Given the description of an element on the screen output the (x, y) to click on. 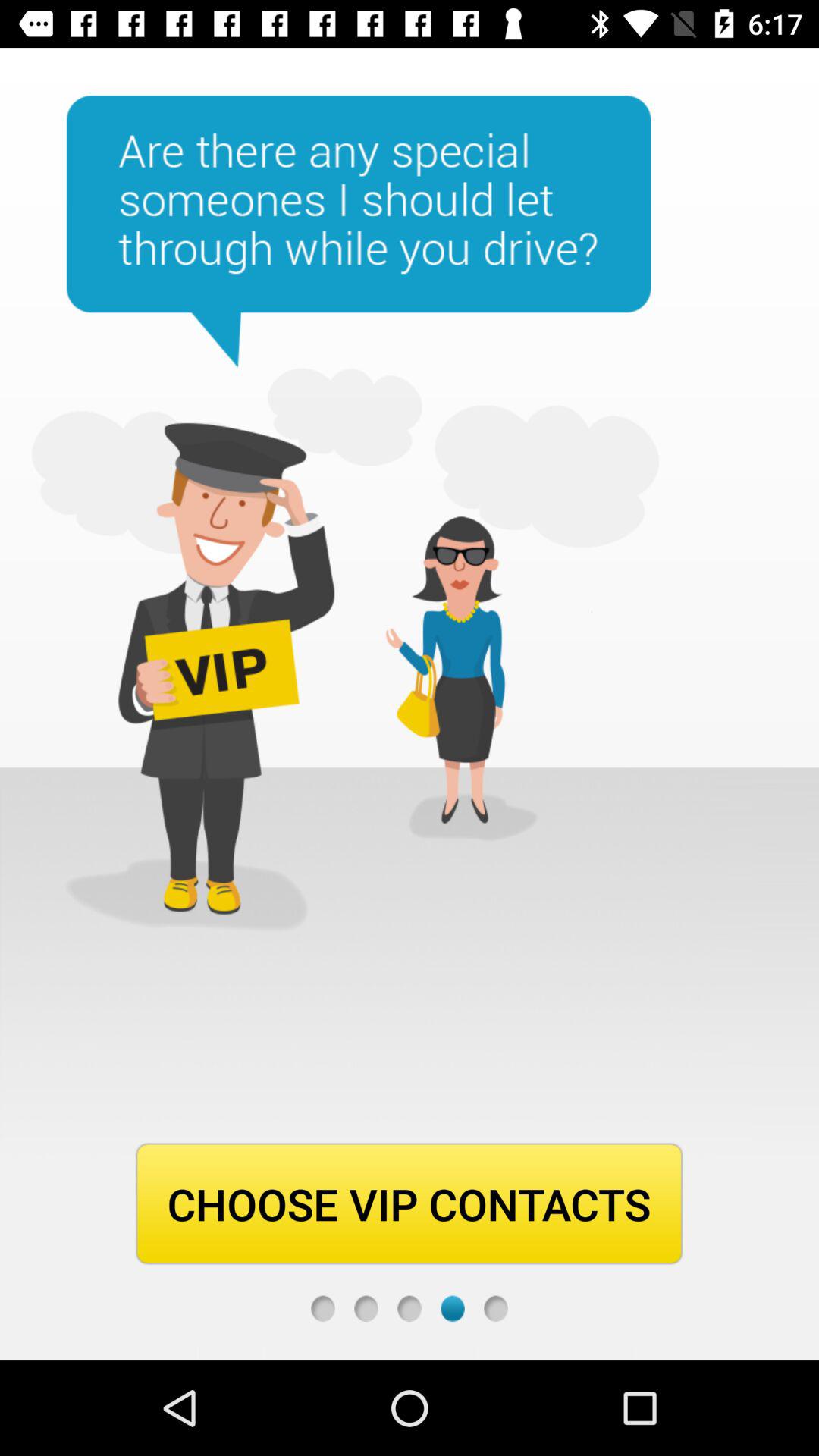
next page (495, 1308)
